Given the description of an element on the screen output the (x, y) to click on. 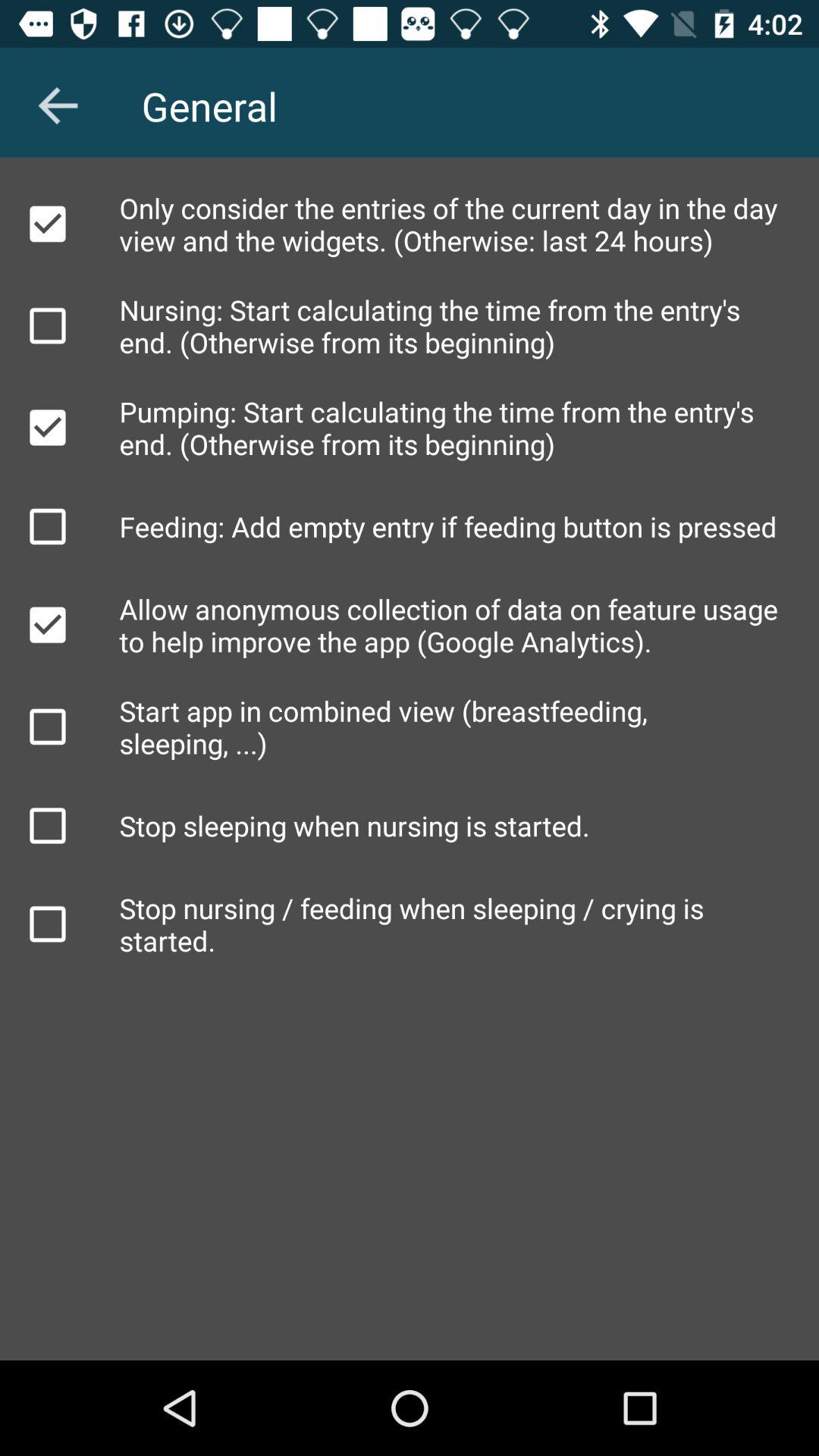
select option (47, 726)
